Given the description of an element on the screen output the (x, y) to click on. 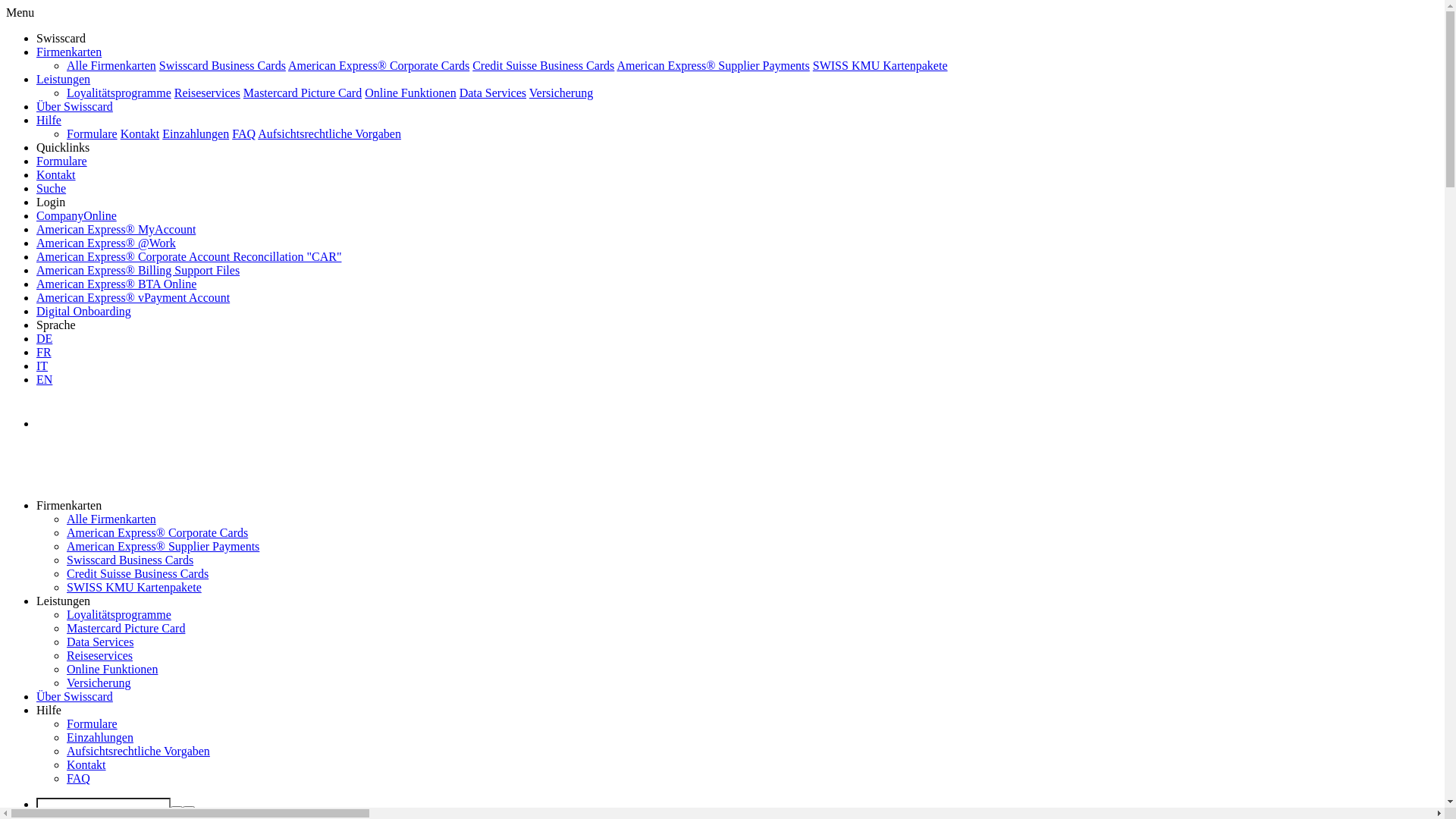
Suche Element type: text (50, 188)
Credit Suisse Business Cards Element type: text (137, 573)
Hilfe Element type: text (48, 119)
Kontakt Element type: text (140, 133)
Aufsichtsrechtliche Vorgaben Element type: text (329, 133)
Swisscard Element type: hover (77, 462)
IT Element type: text (41, 365)
FR Element type: text (43, 351)
Firmenkarten Element type: text (68, 51)
Einzahlungen Element type: text (195, 133)
Leistungen Element type: text (63, 78)
Mastercard Picture Card Element type: text (302, 92)
Einzahlungen Element type: text (99, 737)
Alle Firmenkarten Element type: text (111, 518)
Credit Suisse Business Cards Element type: text (543, 65)
Digital Onboarding Element type: text (83, 310)
Versicherung Element type: text (561, 92)
DE Element type: text (44, 338)
Reiseservices Element type: text (207, 92)
CompanyOnline Element type: text (76, 215)
Formulare Element type: text (61, 160)
FAQ Element type: text (78, 777)
Alle Firmenkarten Element type: text (111, 65)
SWISS KMU Kartenpakete Element type: text (133, 586)
Kontakt Element type: text (55, 174)
Online Funktionen Element type: text (409, 92)
FAQ Element type: text (243, 133)
Versicherung Element type: text (98, 682)
Data Services Element type: text (99, 641)
Swisscard Business Cards Element type: text (129, 559)
Swisscard Business Cards Element type: text (222, 65)
Reiseservices Element type: text (99, 655)
Data Services Element type: text (492, 92)
EN Element type: text (44, 379)
Mastercard Picture Card Element type: text (125, 627)
Online Funktionen Element type: text (111, 668)
Swisscard Element type: hover (107, 406)
Kontakt Element type: text (86, 764)
Aufsichtsrechtliche Vorgaben Element type: text (138, 750)
Formulare Element type: text (91, 133)
Formulare Element type: text (91, 723)
SWISS KMU Kartenpakete Element type: text (879, 65)
Menu Element type: text (20, 12)
